Given the description of an element on the screen output the (x, y) to click on. 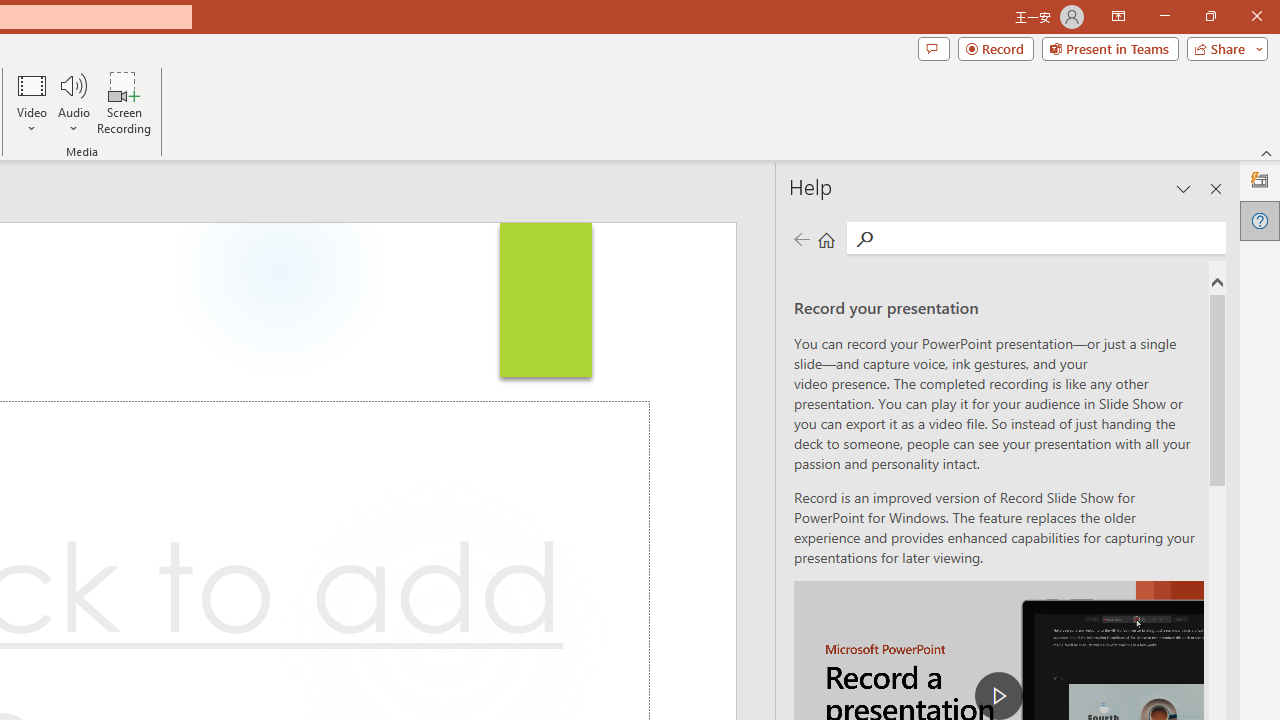
Video (31, 102)
Screen Recording... (123, 102)
